Given the description of an element on the screen output the (x, y) to click on. 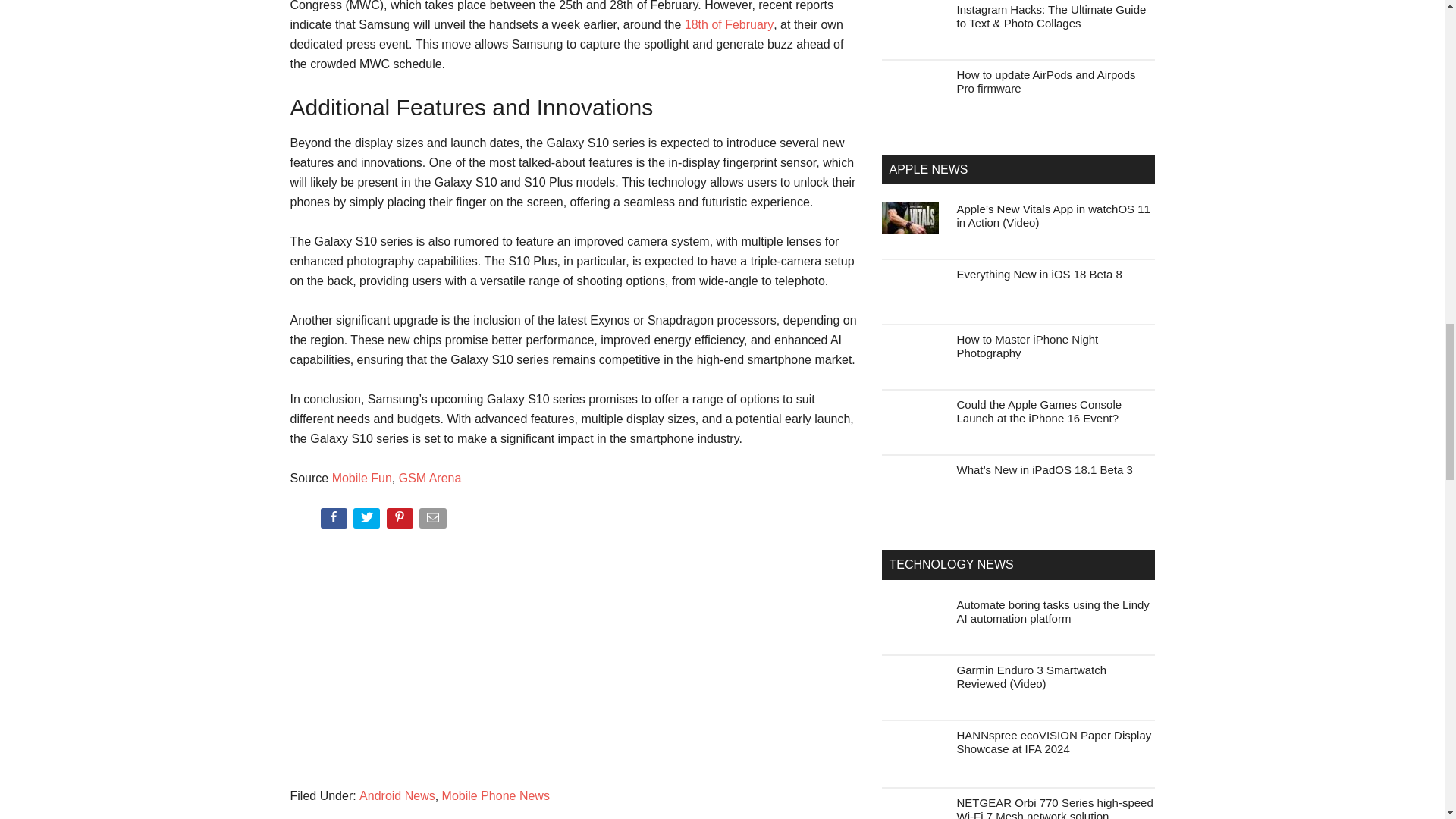
Share on Facebook (334, 520)
Mobile Fun (361, 477)
Email (433, 520)
Android News (397, 795)
Pin (401, 520)
Tweet (367, 520)
GSM Arena (429, 477)
Mobile Phone News (496, 795)
18th of February (728, 24)
